Given the description of an element on the screen output the (x, y) to click on. 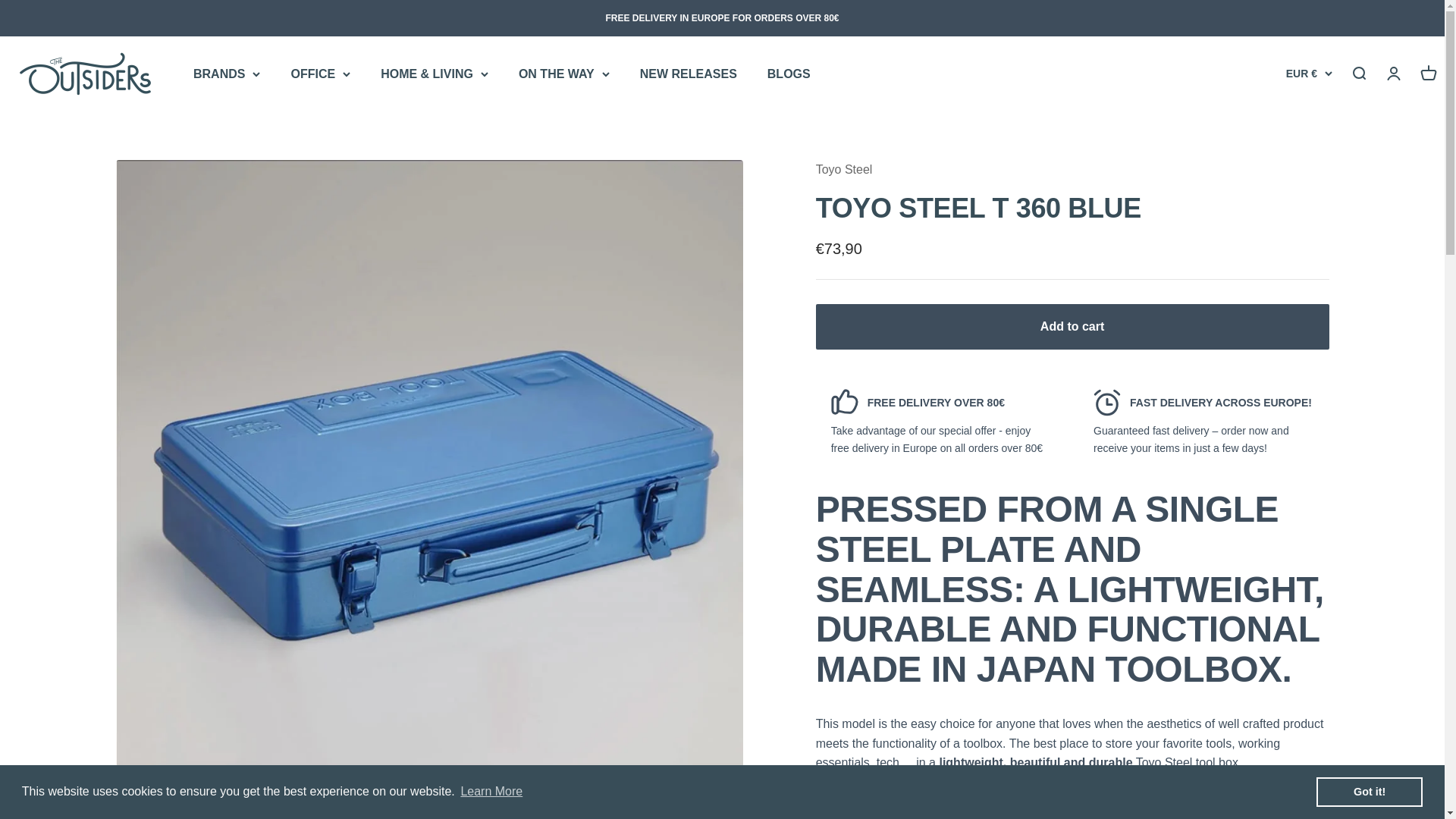
Got it! (1369, 791)
Learn More (491, 791)
